Given the description of an element on the screen output the (x, y) to click on. 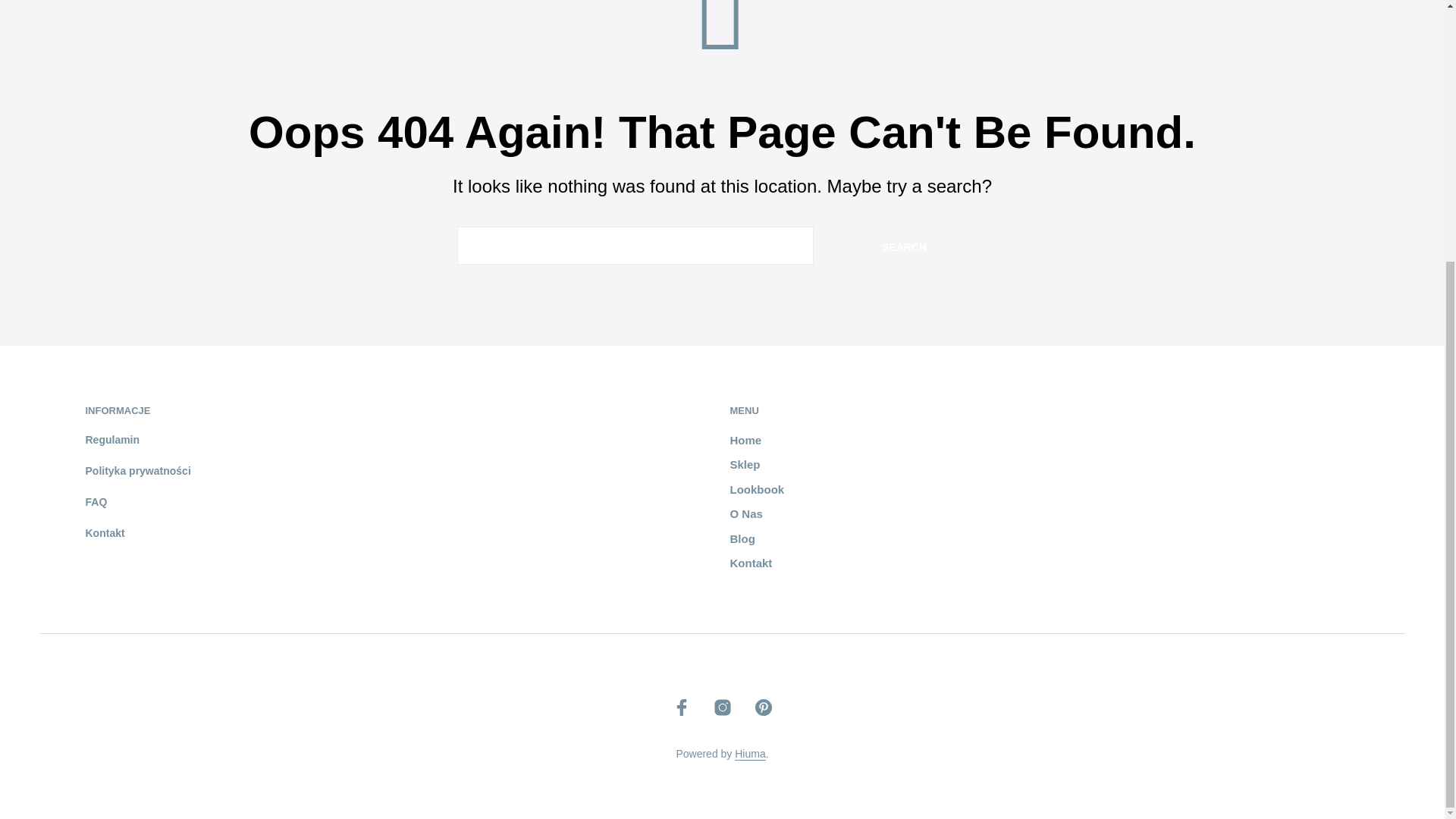
Kontakt (750, 562)
Kontakt (103, 532)
Blog (741, 538)
Hiuma beach goods (750, 754)
Search (904, 245)
Search (904, 245)
Home (745, 440)
Regulamin (111, 439)
O Nas (745, 513)
Hiuma (750, 754)
FAQ (95, 501)
Search (904, 245)
Lookbook (756, 489)
Sklep (744, 463)
